Given the description of an element on the screen output the (x, y) to click on. 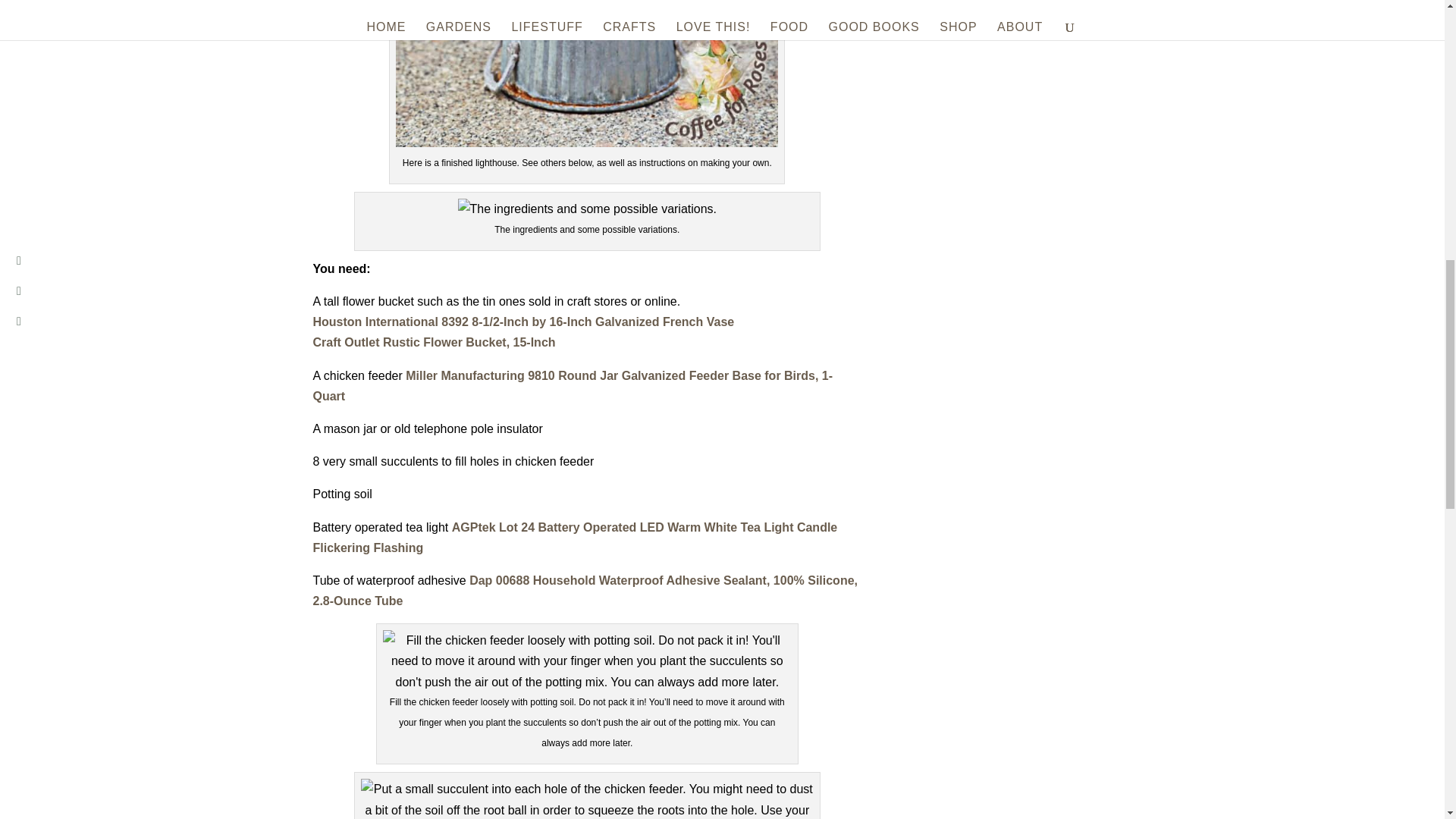
Order Coffee for Roses (1019, 123)
Craft Outlet Rustic Flower Bucket, 15-Inch (433, 341)
